Given the description of an element on the screen output the (x, y) to click on. 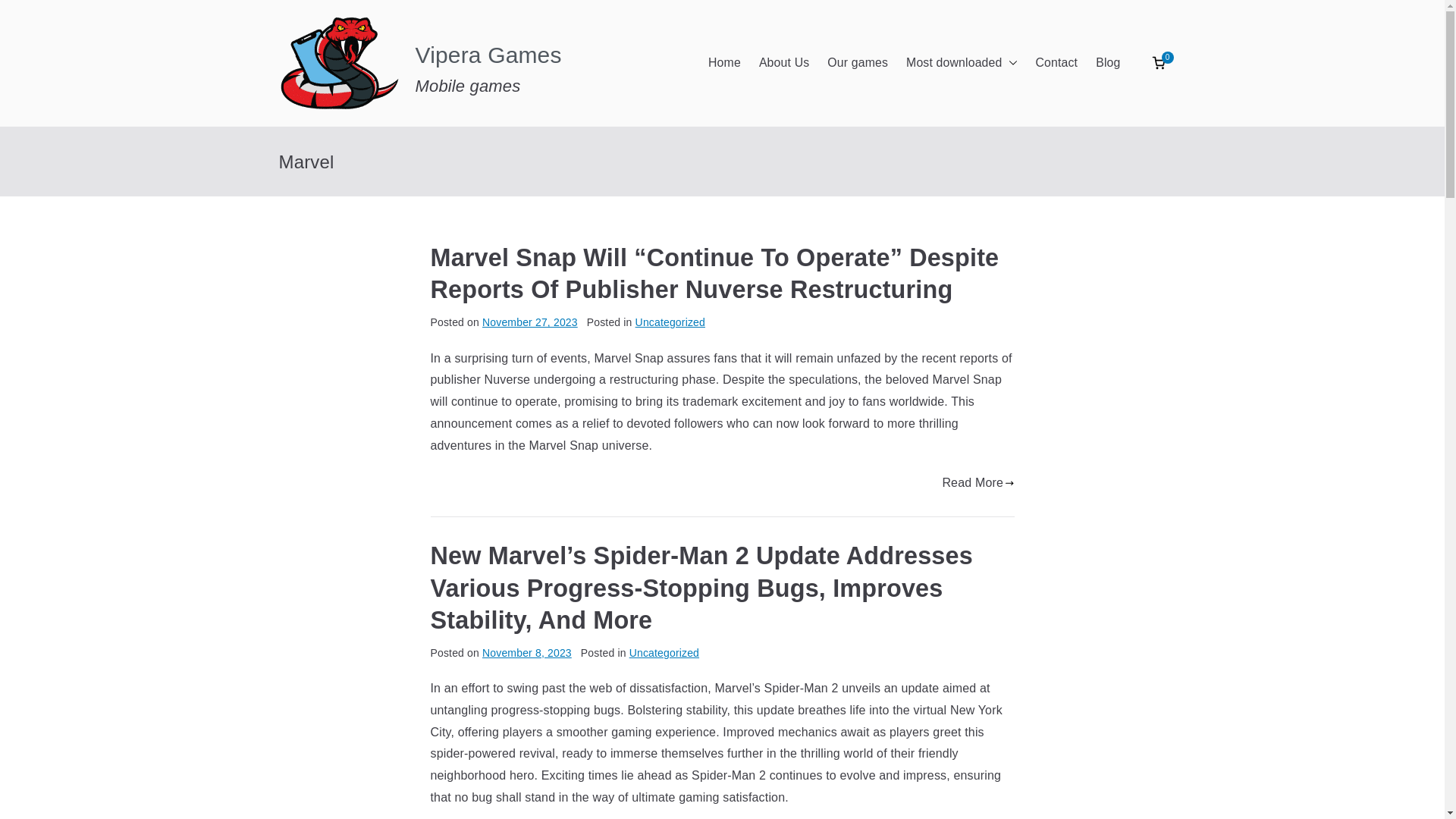
Uncategorized (669, 322)
Vipera Games (488, 54)
Most downloaded (960, 63)
0 (1158, 62)
About Us (783, 63)
Uncategorized (663, 653)
Read More (977, 483)
Contact (1056, 63)
